Given the description of an element on the screen output the (x, y) to click on. 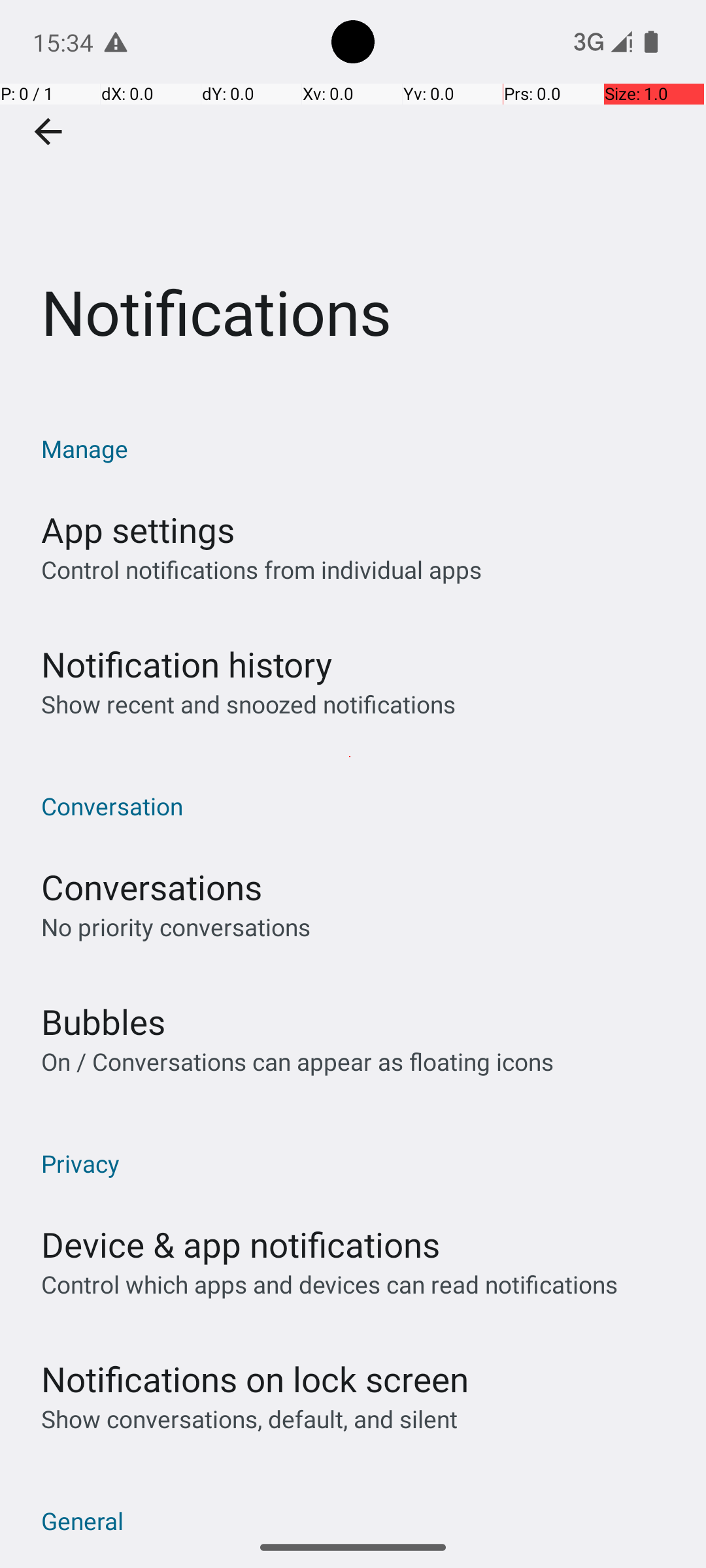
Manage Element type: android.widget.TextView (359, 448)
App settings Element type: android.widget.TextView (137, 529)
Control notifications from individual apps Element type: android.widget.TextView (261, 569)
Notification history Element type: android.widget.TextView (186, 663)
Show recent and snoozed notifications Element type: android.widget.TextView (248, 703)
Conversation Element type: android.widget.TextView (359, 805)
Conversations Element type: android.widget.TextView (151, 886)
No priority conversations Element type: android.widget.TextView (175, 926)
Bubbles Element type: android.widget.TextView (103, 1021)
On / Conversations can appear as floating icons Element type: android.widget.TextView (297, 1061)
Privacy Element type: android.widget.TextView (359, 1162)
Device & app notifications Element type: android.widget.TextView (240, 1244)
Control which apps and devices can read notifications Element type: android.widget.TextView (329, 1283)
Notifications on lock screen Element type: android.widget.TextView (254, 1378)
Show conversations, default, and silent Element type: android.widget.TextView (249, 1418)
